Given the description of an element on the screen output the (x, y) to click on. 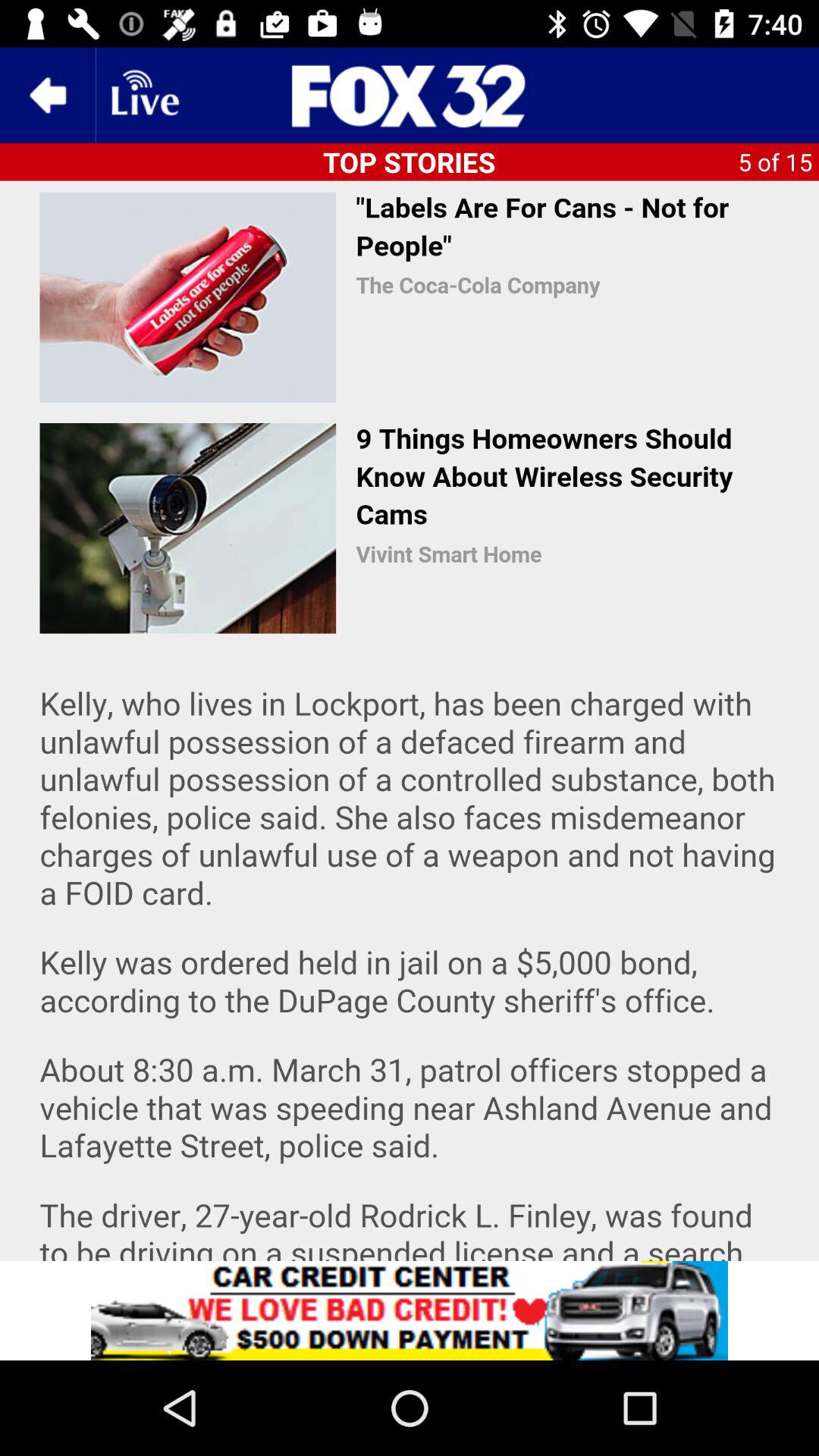
open homepage (409, 95)
